Given the description of an element on the screen output the (x, y) to click on. 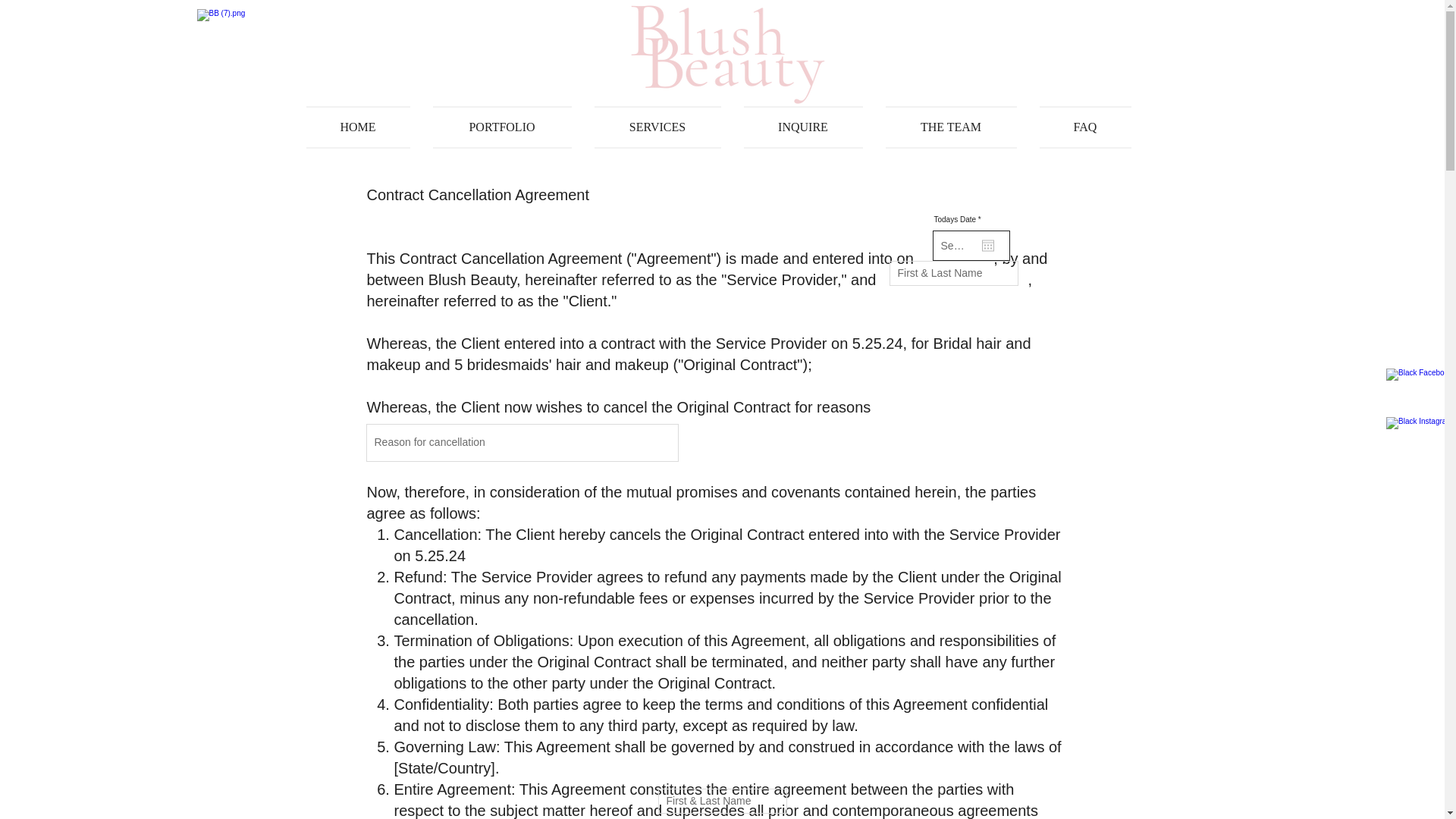
PORTFOLIO (502, 127)
SERVICES (657, 127)
HOME (363, 127)
THE TEAM (950, 127)
INQUIRE (803, 127)
FAQ (1079, 127)
